Given the description of an element on the screen output the (x, y) to click on. 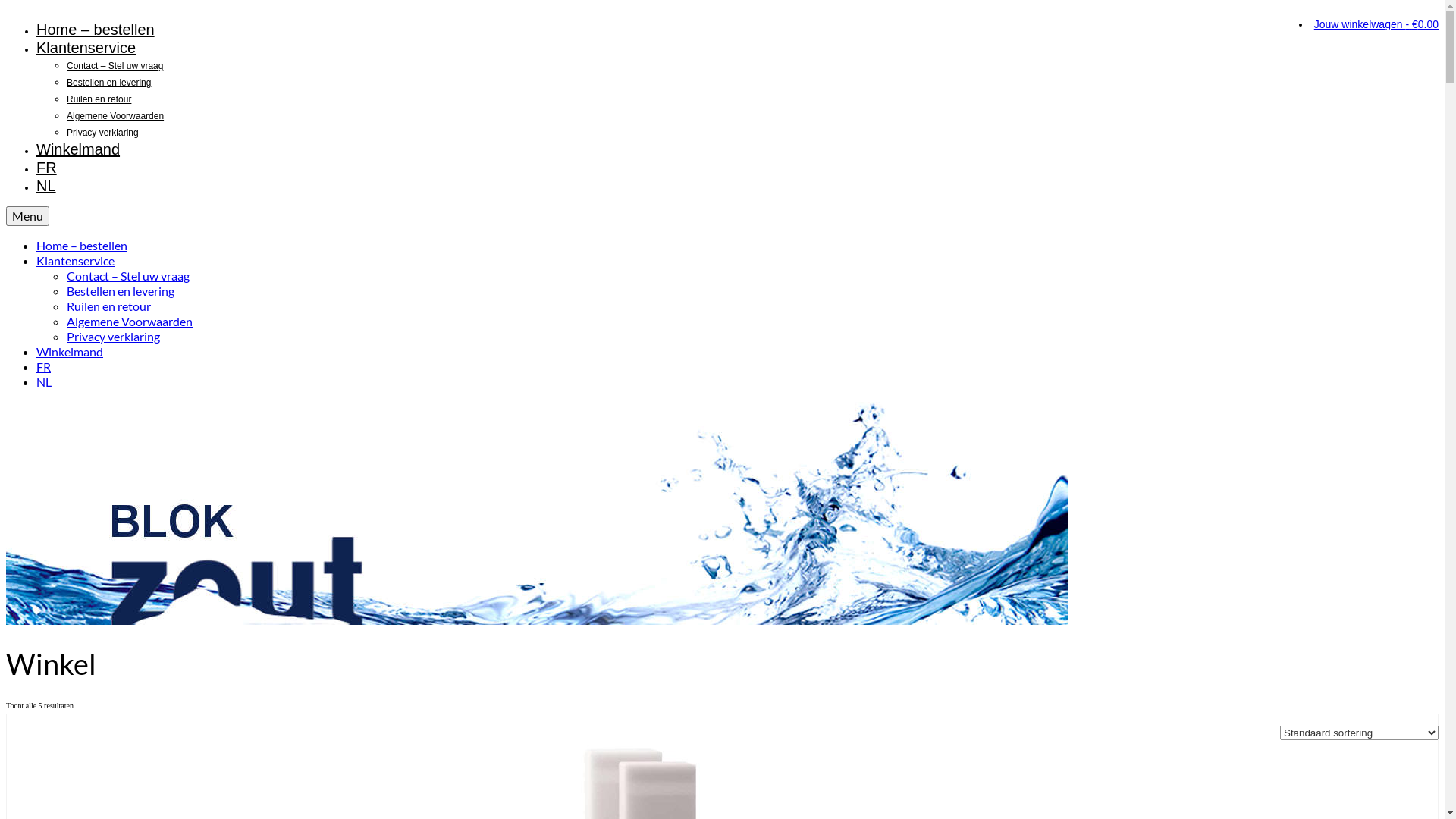
FR Element type: text (43, 366)
Winkelmand Element type: text (77, 149)
NL Element type: text (43, 381)
Klantenservice Element type: text (85, 47)
NL Element type: text (46, 185)
Winkelmand Element type: text (69, 351)
Privacy verklaring Element type: text (102, 132)
Bestellen en levering Element type: text (108, 82)
Algemene Voorwaarden Element type: text (114, 115)
Privacy verklaring Element type: text (113, 336)
Klantenservice Element type: text (75, 260)
Ruilen en retour Element type: text (108, 305)
Menu Element type: text (27, 215)
Algemene Voorwaarden Element type: text (129, 320)
Ruilen en retour Element type: text (98, 99)
Bestellen en levering Element type: text (120, 290)
FR Element type: text (46, 167)
